Given the description of an element on the screen output the (x, y) to click on. 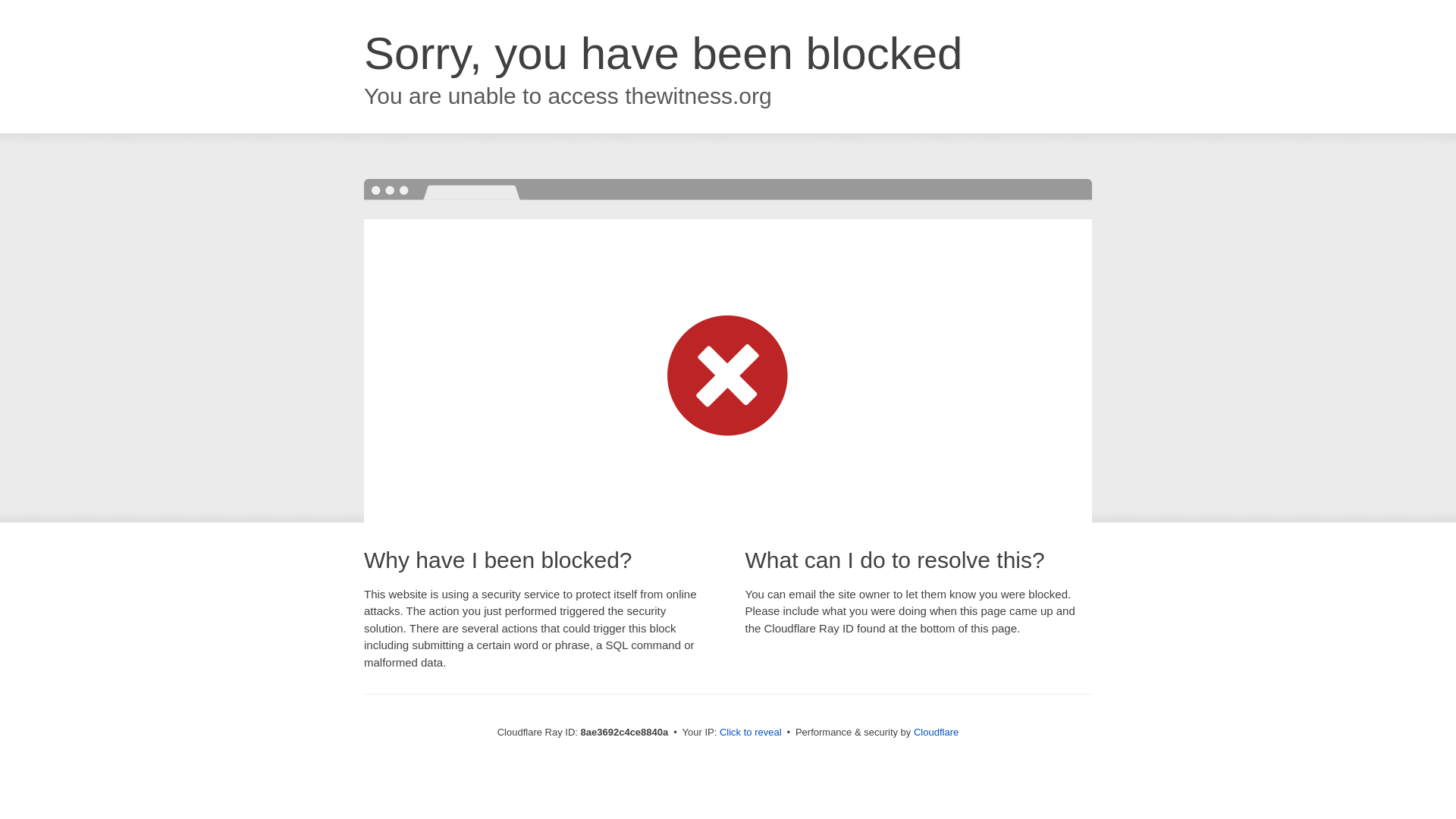
Cloudflare (936, 731)
Click to reveal (750, 732)
